Given the description of an element on the screen output the (x, y) to click on. 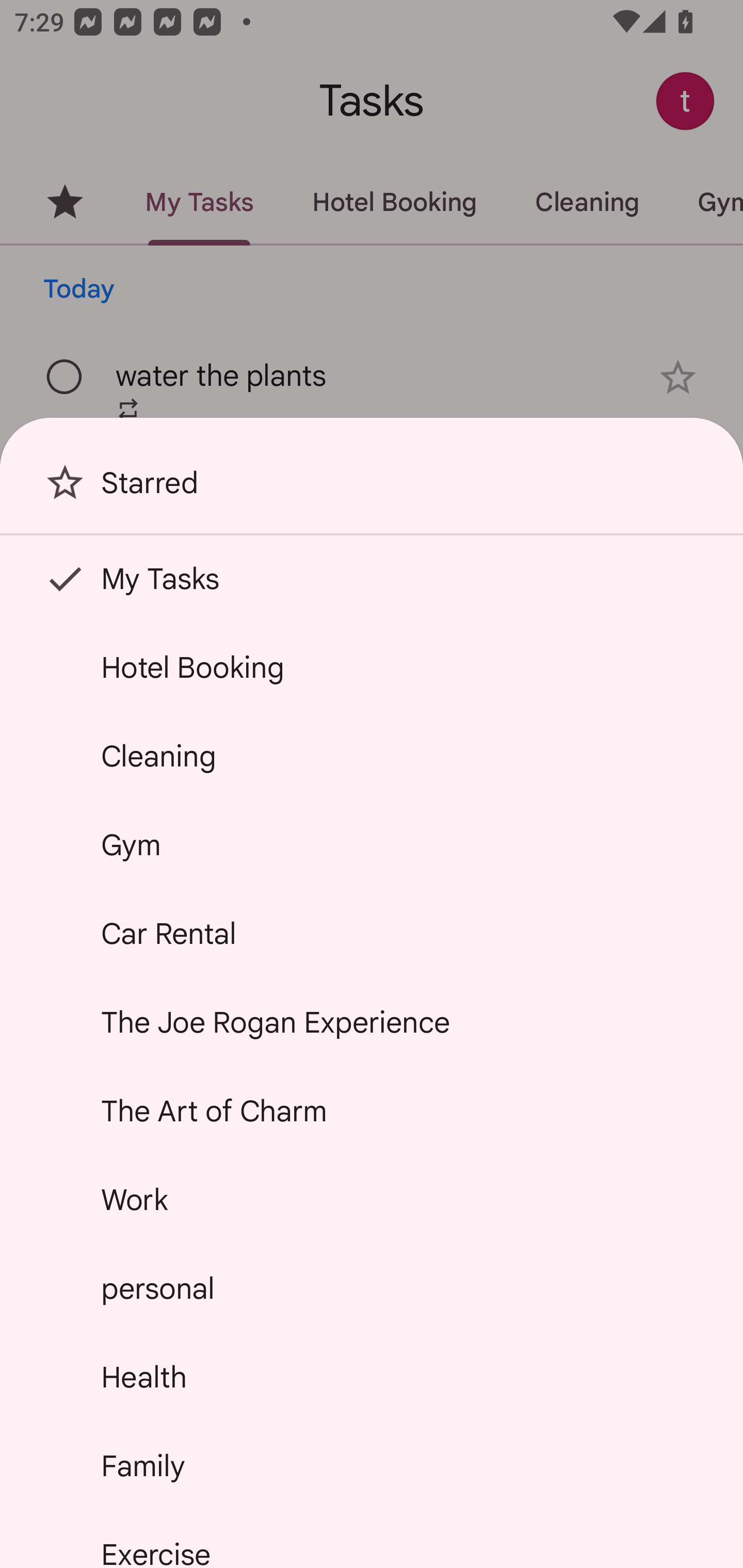
Starred (371, 489)
My Tasks (371, 578)
Hotel Booking (371, 667)
Cleaning (371, 756)
Gym (371, 844)
Car Rental (371, 933)
The Joe Rogan Experience (371, 1022)
The Art of Charm (371, 1110)
Work (371, 1200)
personal (371, 1287)
Health (371, 1377)
Family (371, 1465)
Exercise (371, 1539)
